Given the description of an element on the screen output the (x, y) to click on. 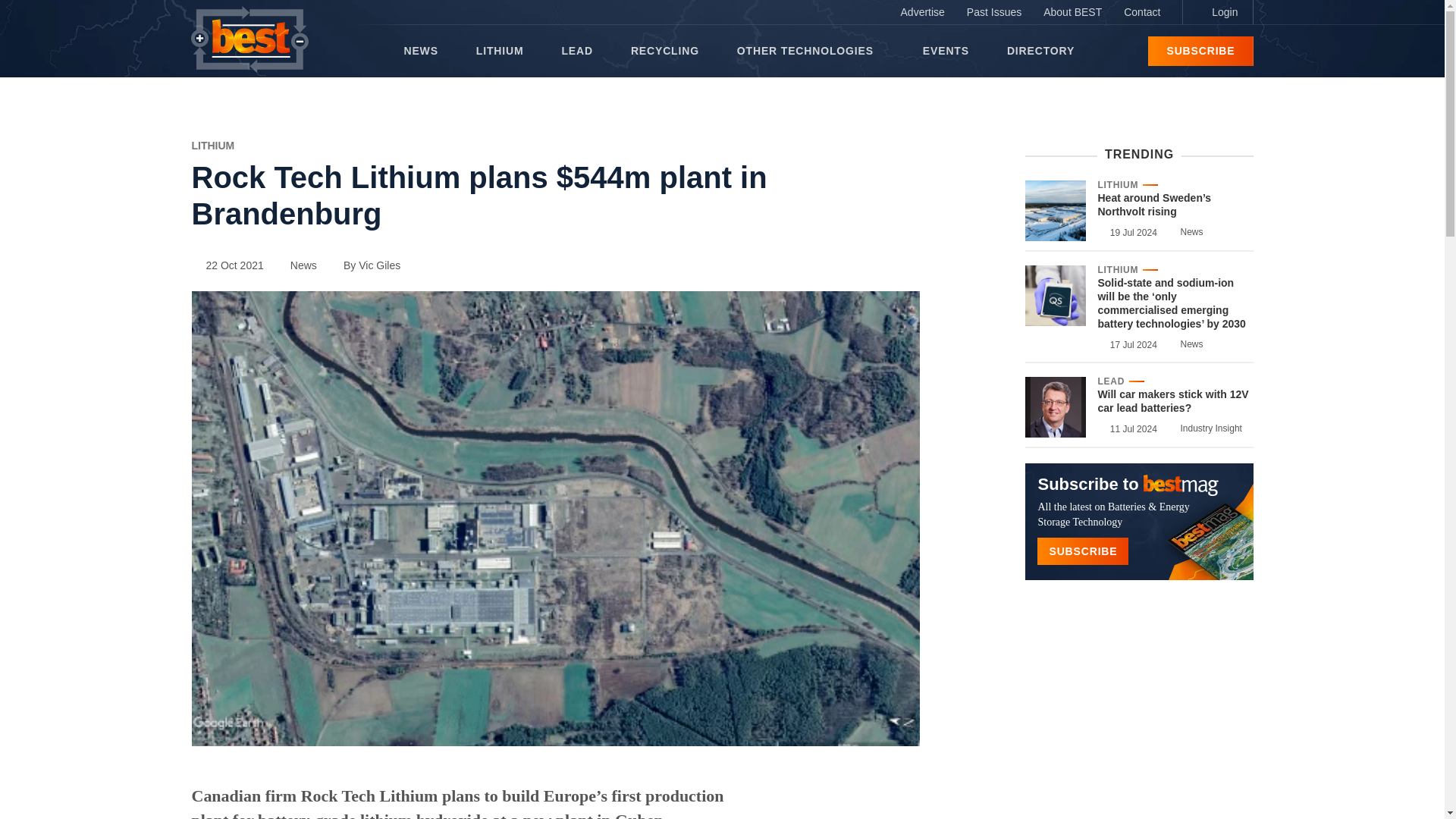
LITHIUM (212, 145)
Advertise (922, 12)
OTHER TECHNOLOGIES (810, 50)
RECYCLING (664, 50)
Past Issues (994, 12)
LITHIUM (499, 50)
Contact (1141, 12)
About BEST (1072, 12)
Login (1217, 12)
NEWS (420, 50)
EVENTS (945, 50)
SUBSCRIBE (1200, 51)
News (296, 265)
By Vic Giles (364, 265)
DIRECTORY (1039, 50)
